Given the description of an element on the screen output the (x, y) to click on. 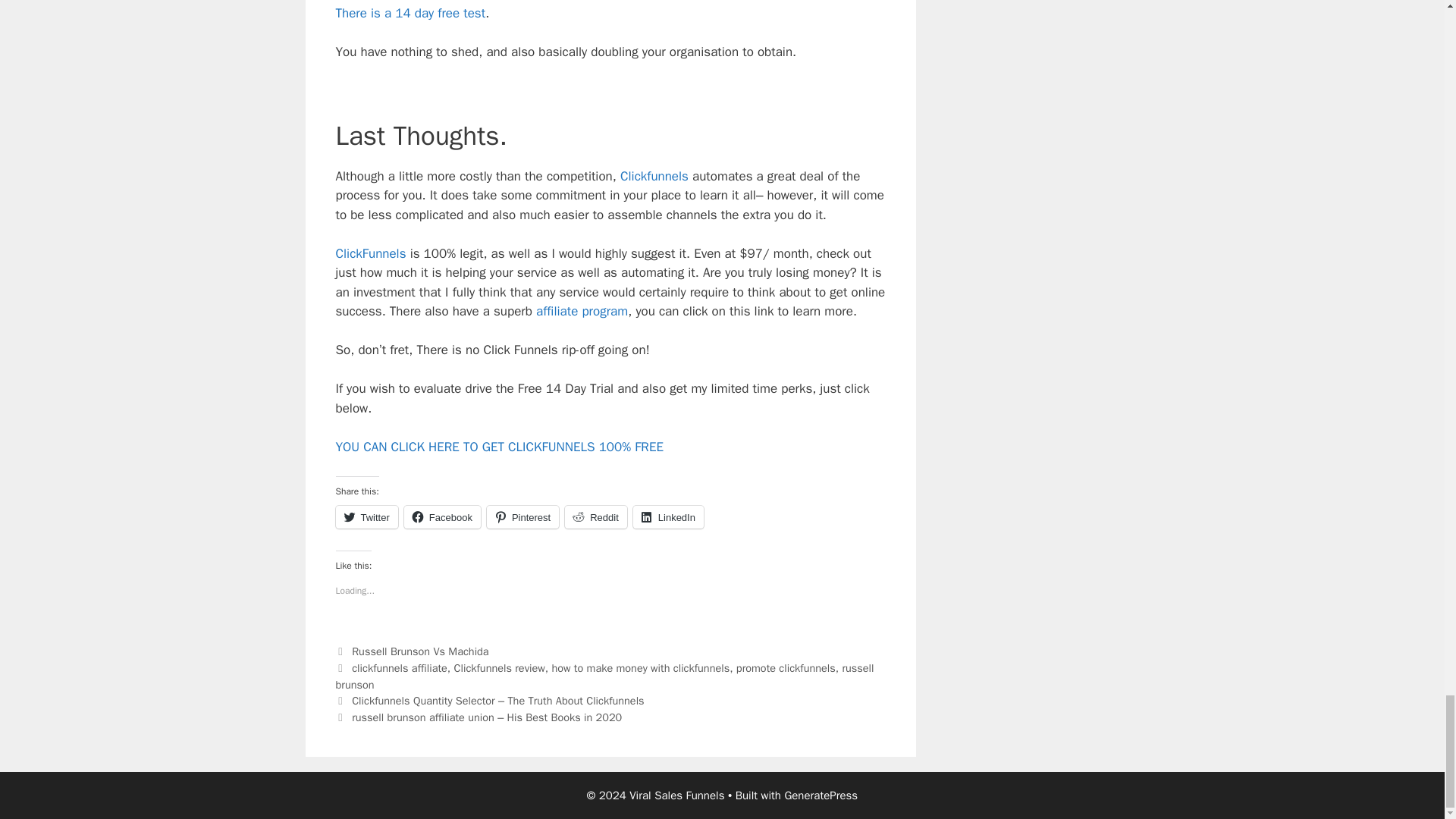
Click to share on Twitter (365, 517)
Click to share on Pinterest (522, 517)
Click to share on Reddit (595, 517)
Click to share on LinkedIn (668, 517)
Click to share on Facebook (442, 517)
